Given the description of an element on the screen output the (x, y) to click on. 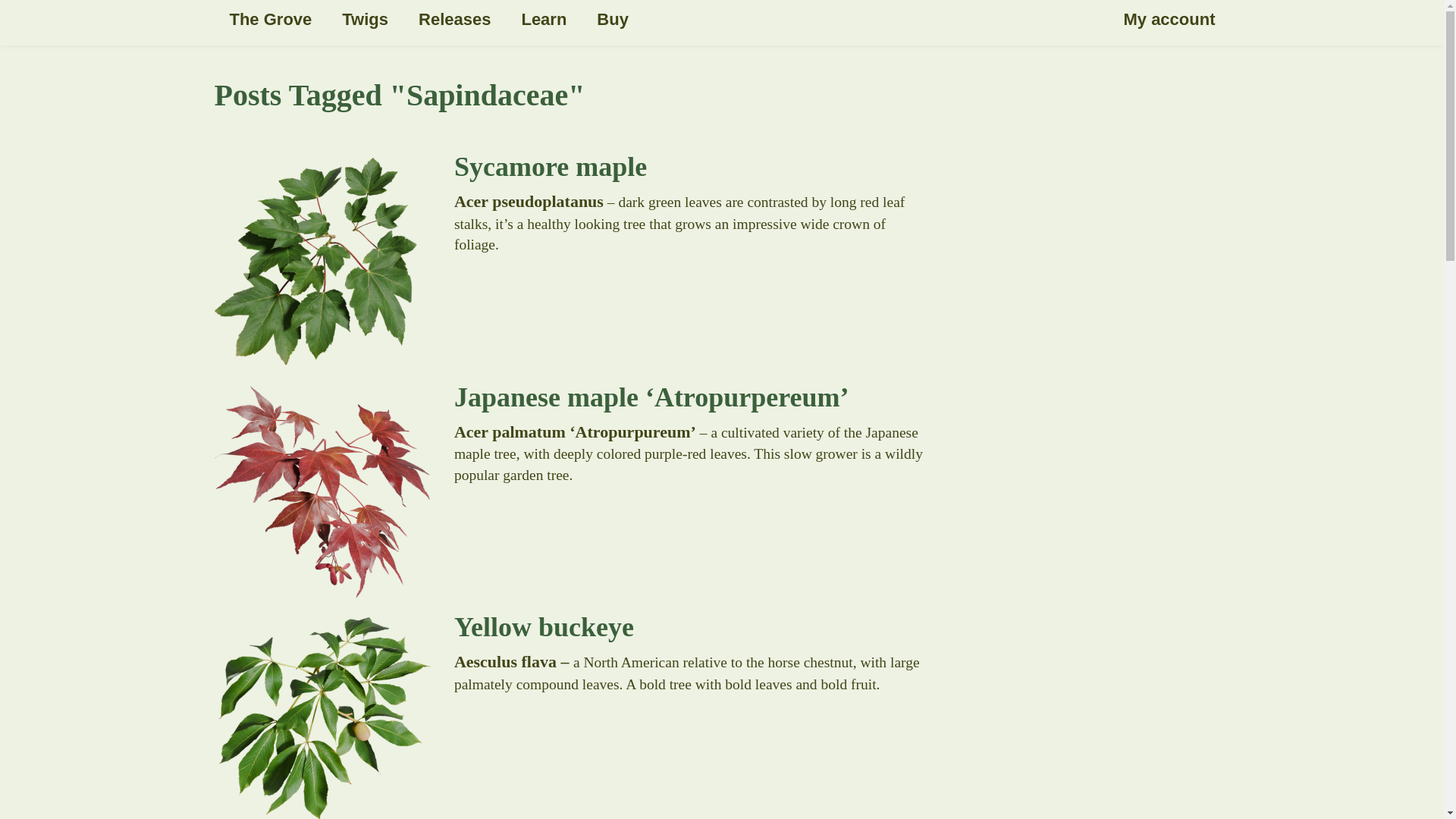
Buy (611, 20)
Twigs (364, 20)
Sycamore maple (569, 164)
My account (1169, 20)
Buy (611, 20)
Twigs (364, 20)
Releases (454, 20)
The Grove (270, 20)
Yellow buckeye (569, 624)
Learn (542, 20)
Learn (542, 20)
Releases (454, 20)
My Account (1169, 20)
